Given the description of an element on the screen output the (x, y) to click on. 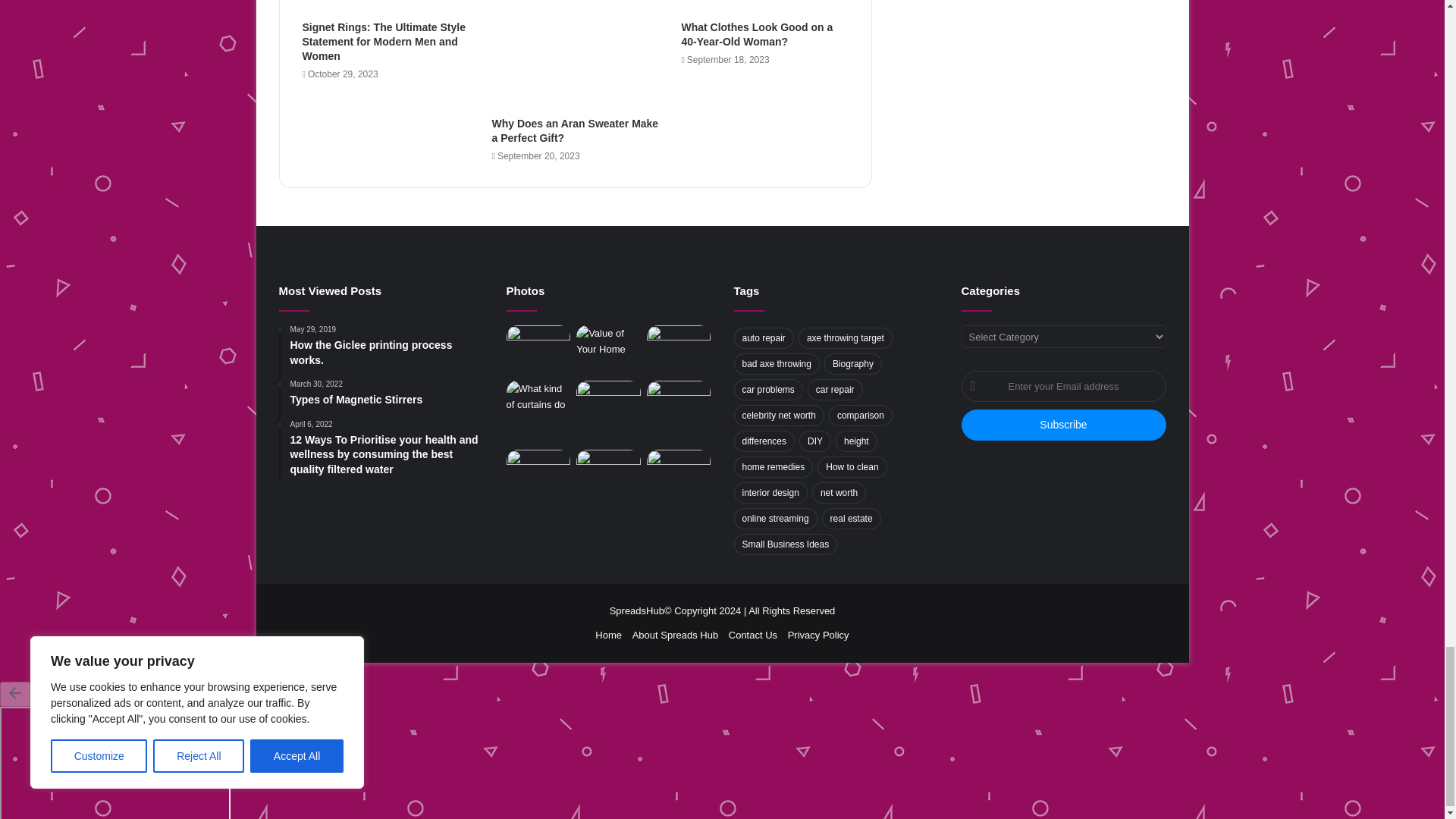
Subscribe (1063, 424)
